Given the description of an element on the screen output the (x, y) to click on. 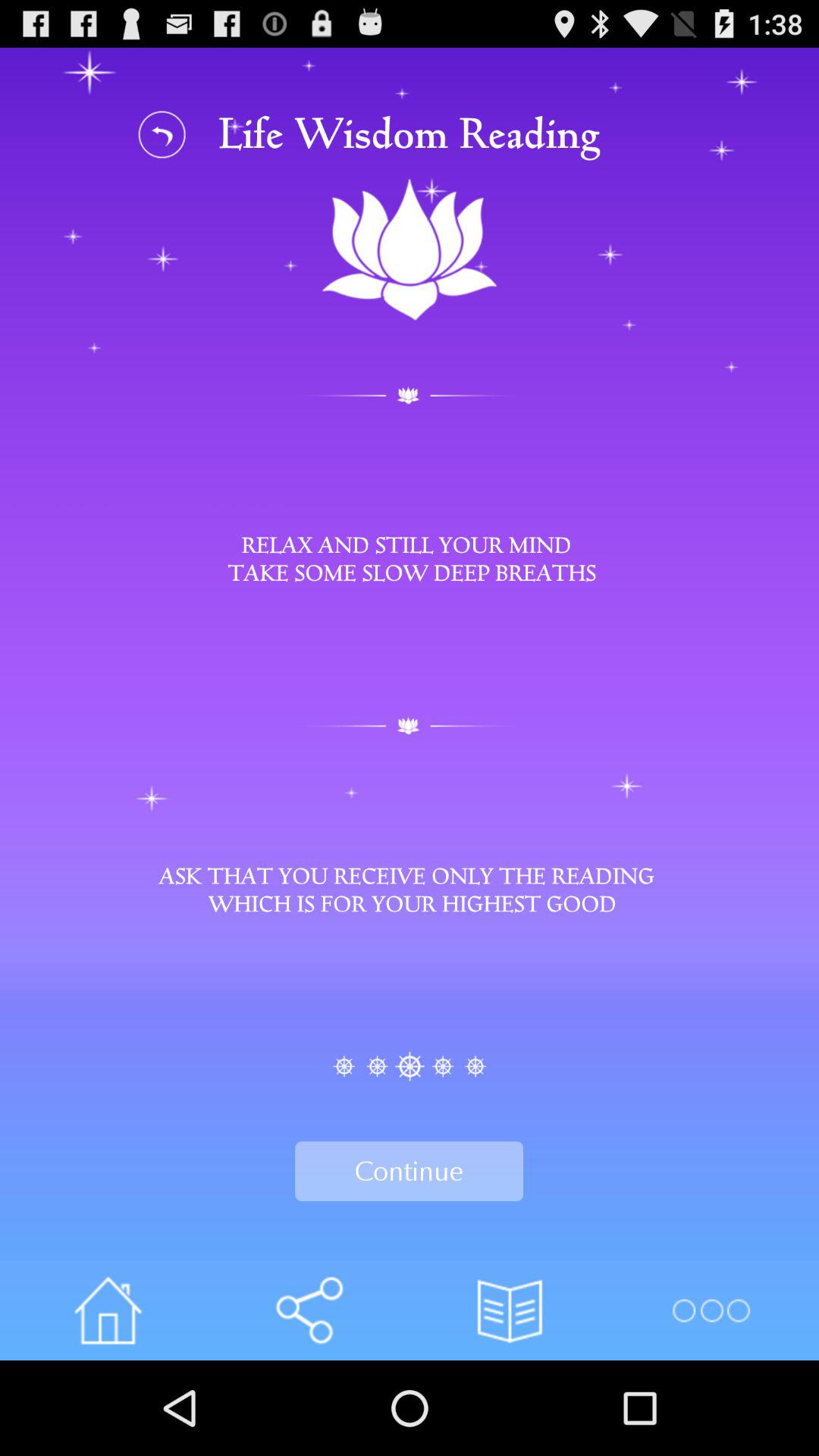
go back (162, 133)
